Given the description of an element on the screen output the (x, y) to click on. 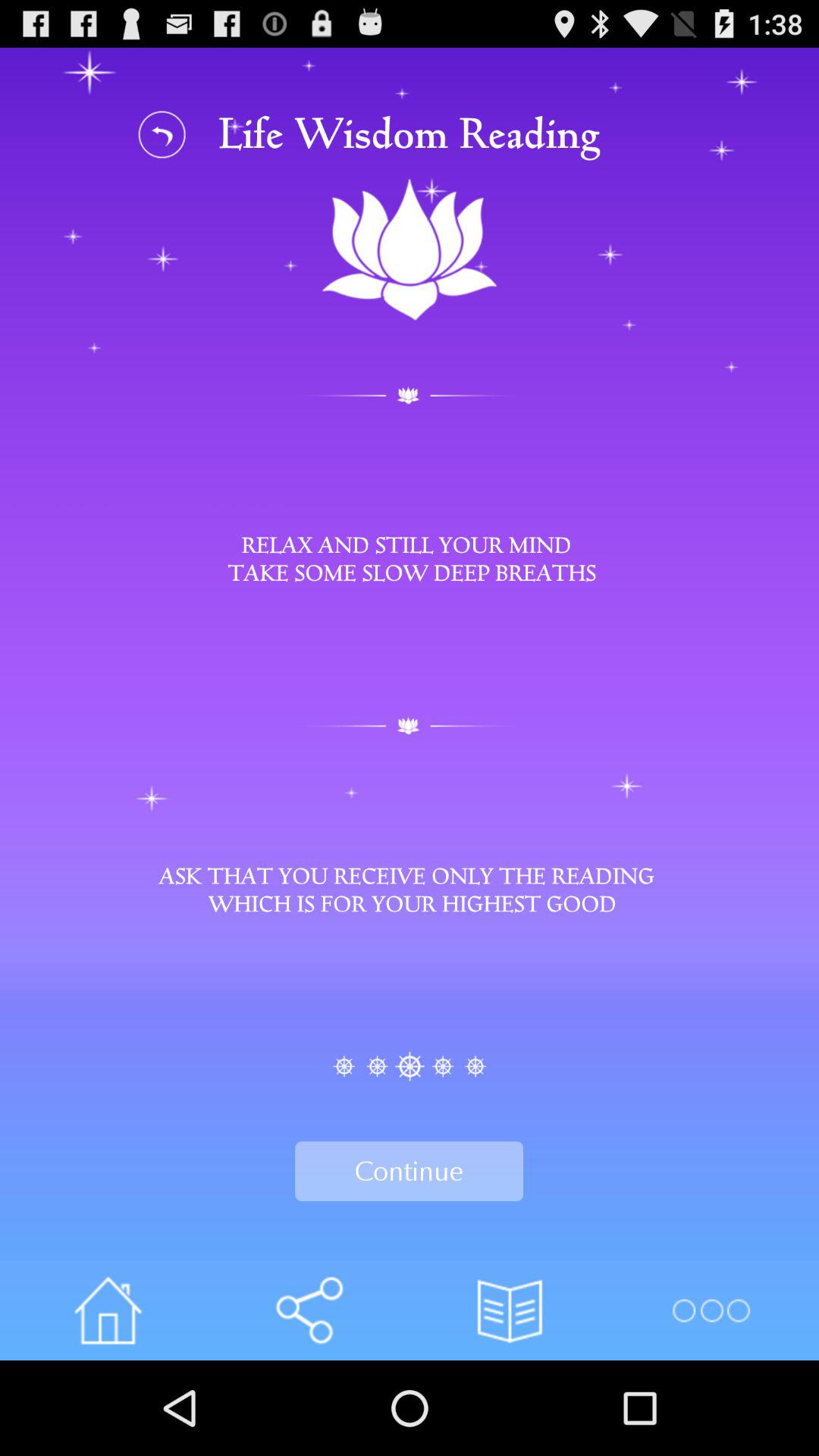
go back (162, 133)
